Given the description of an element on the screen output the (x, y) to click on. 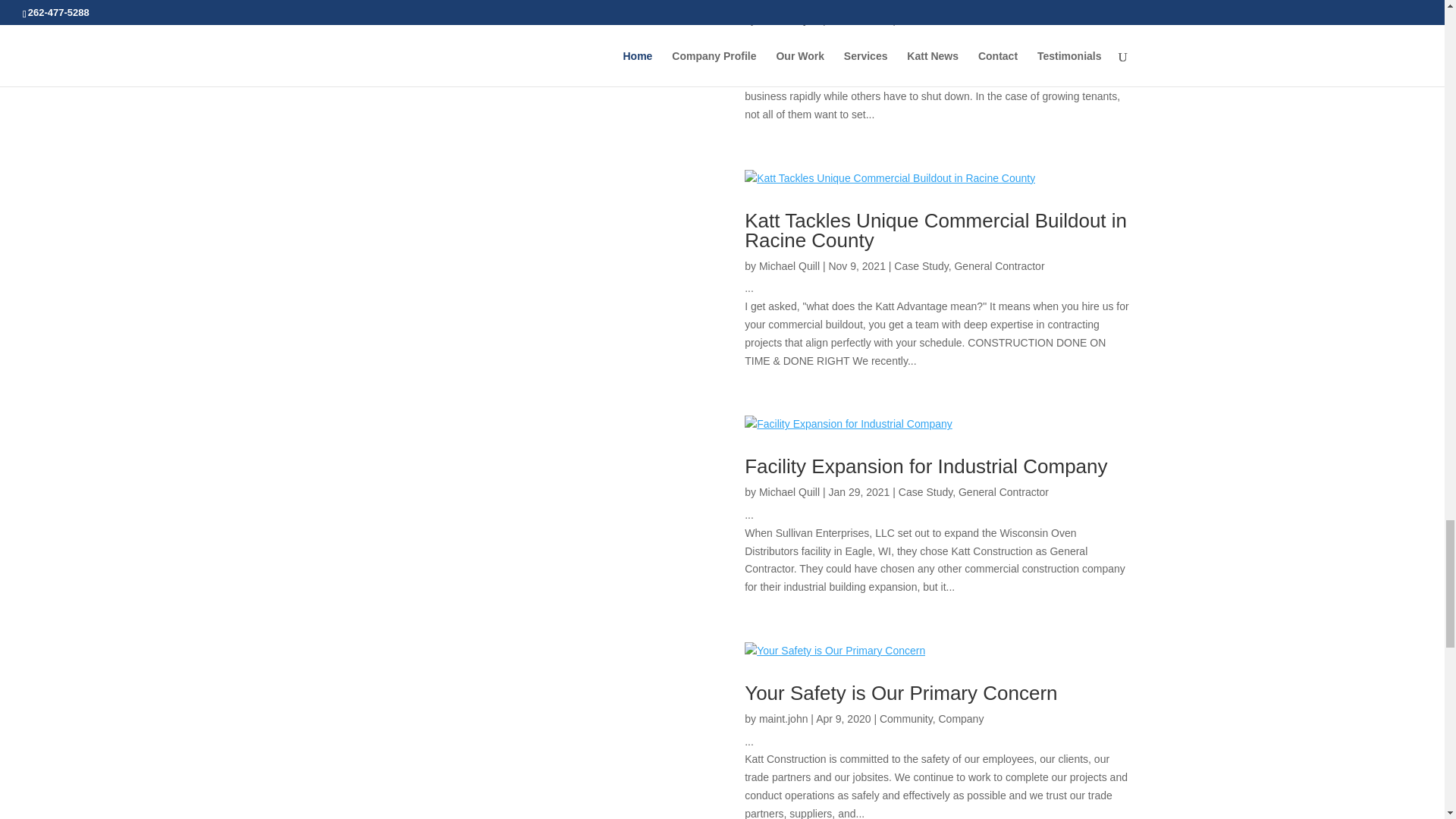
Posts by maint.john (783, 718)
Posts by Michael Quill (788, 265)
Posts by Michael Quill (788, 19)
Posts by Michael Quill (788, 491)
